Given the description of an element on the screen output the (x, y) to click on. 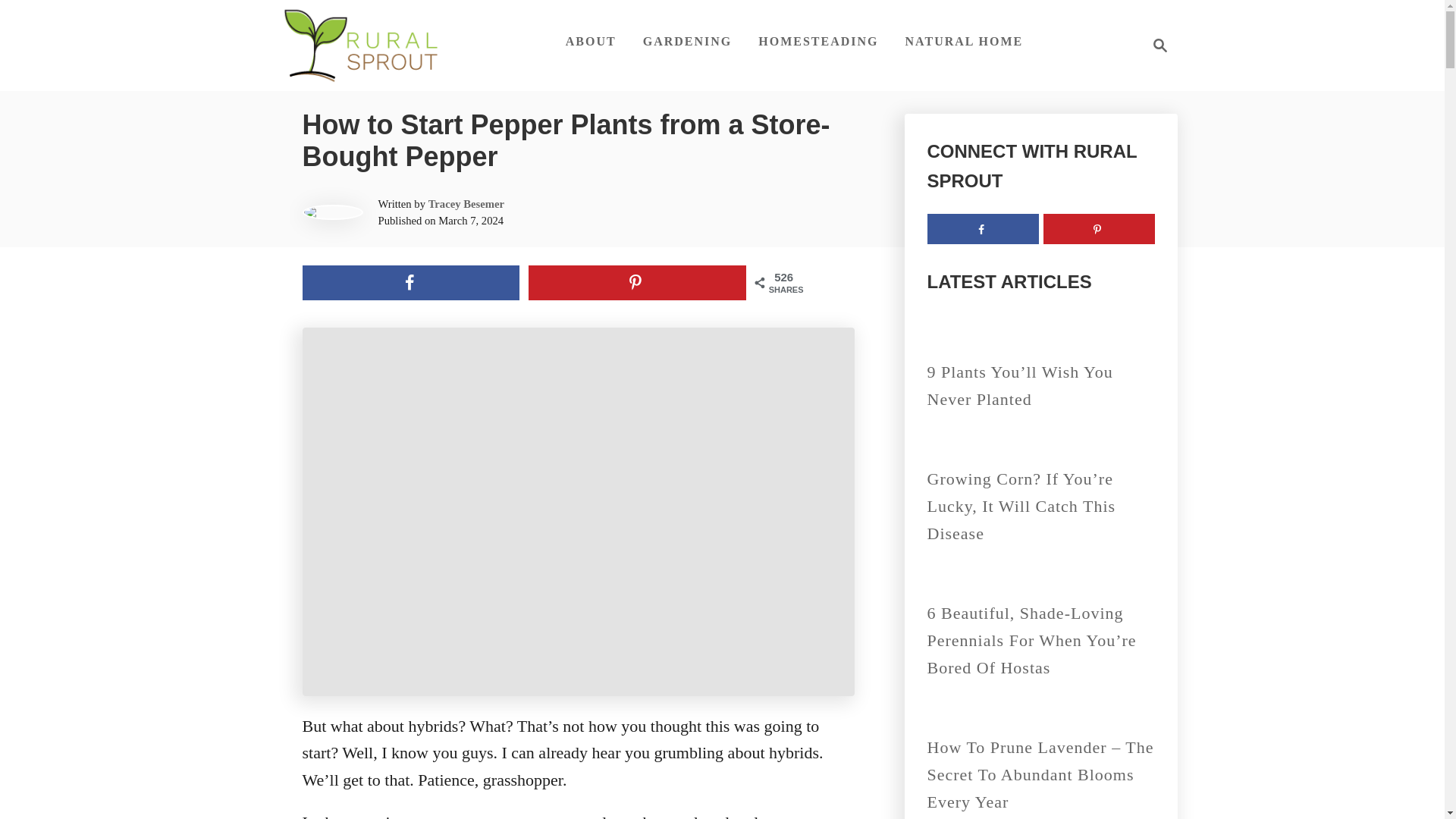
NATURAL HOME (964, 41)
Magnifying Glass (1155, 45)
Save to Pinterest (1160, 45)
Follow on Pinterest (636, 282)
Tracey Besemer (1098, 228)
Rural Sprout (465, 203)
Share on Facebook (361, 45)
HOMESTEADING (410, 282)
Skip to Content (818, 41)
GARDENING (590, 41)
Follow on Facebook (686, 41)
